Given the description of an element on the screen output the (x, y) to click on. 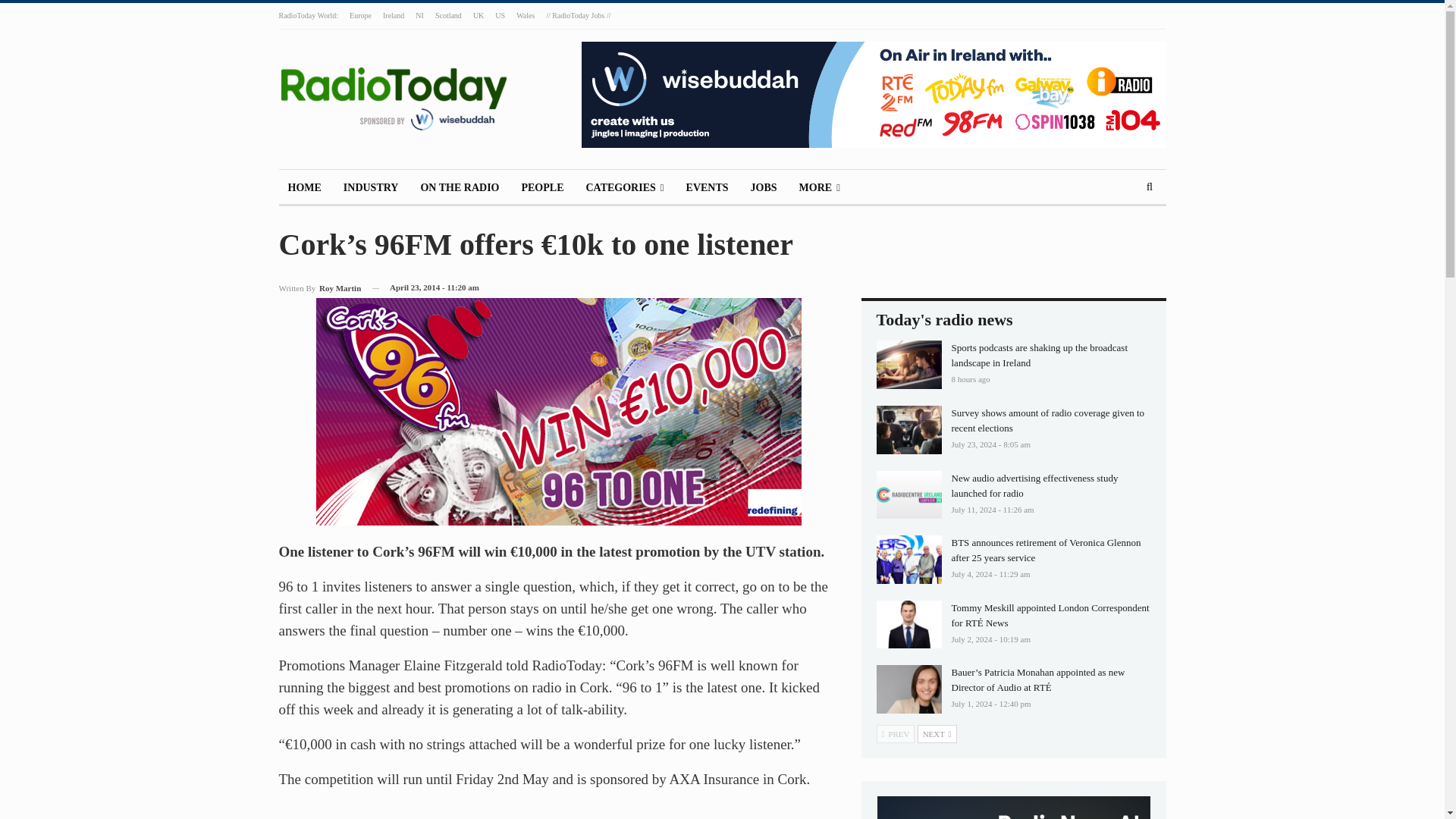
Written By Roy Martin (320, 287)
NI (418, 15)
US (500, 15)
ON THE RADIO (459, 187)
INDUSTRY (370, 187)
Ireland (393, 15)
Scotland (448, 15)
MORE (819, 187)
PEOPLE (542, 187)
HOME (304, 187)
UK (478, 15)
Browse Author Articles (320, 287)
Europe (360, 15)
RadioToday World: (309, 15)
CATEGORIES (624, 187)
